Given the description of an element on the screen output the (x, y) to click on. 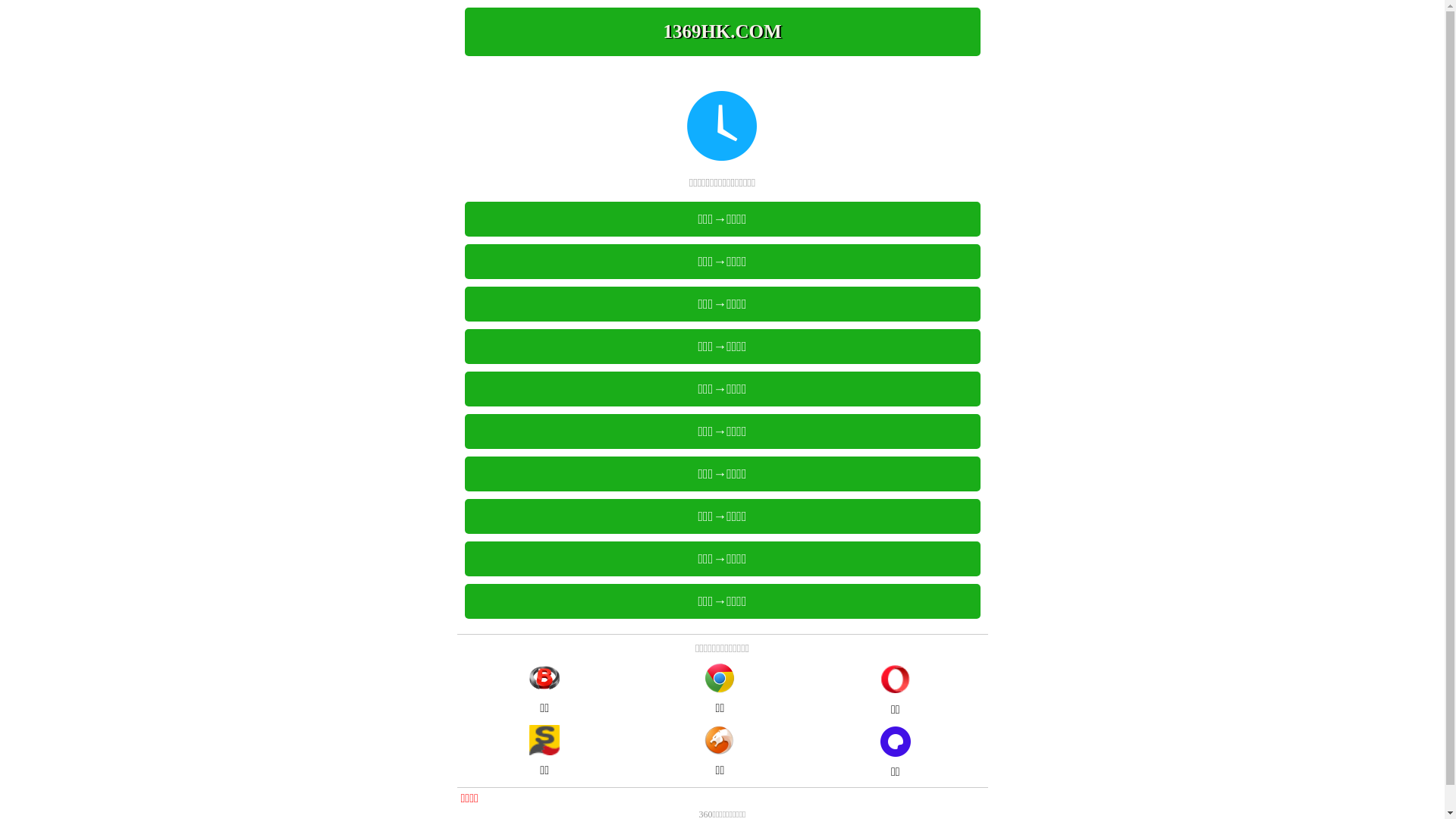
1369HK.COM Element type: text (721, 31)
